Given the description of an element on the screen output the (x, y) to click on. 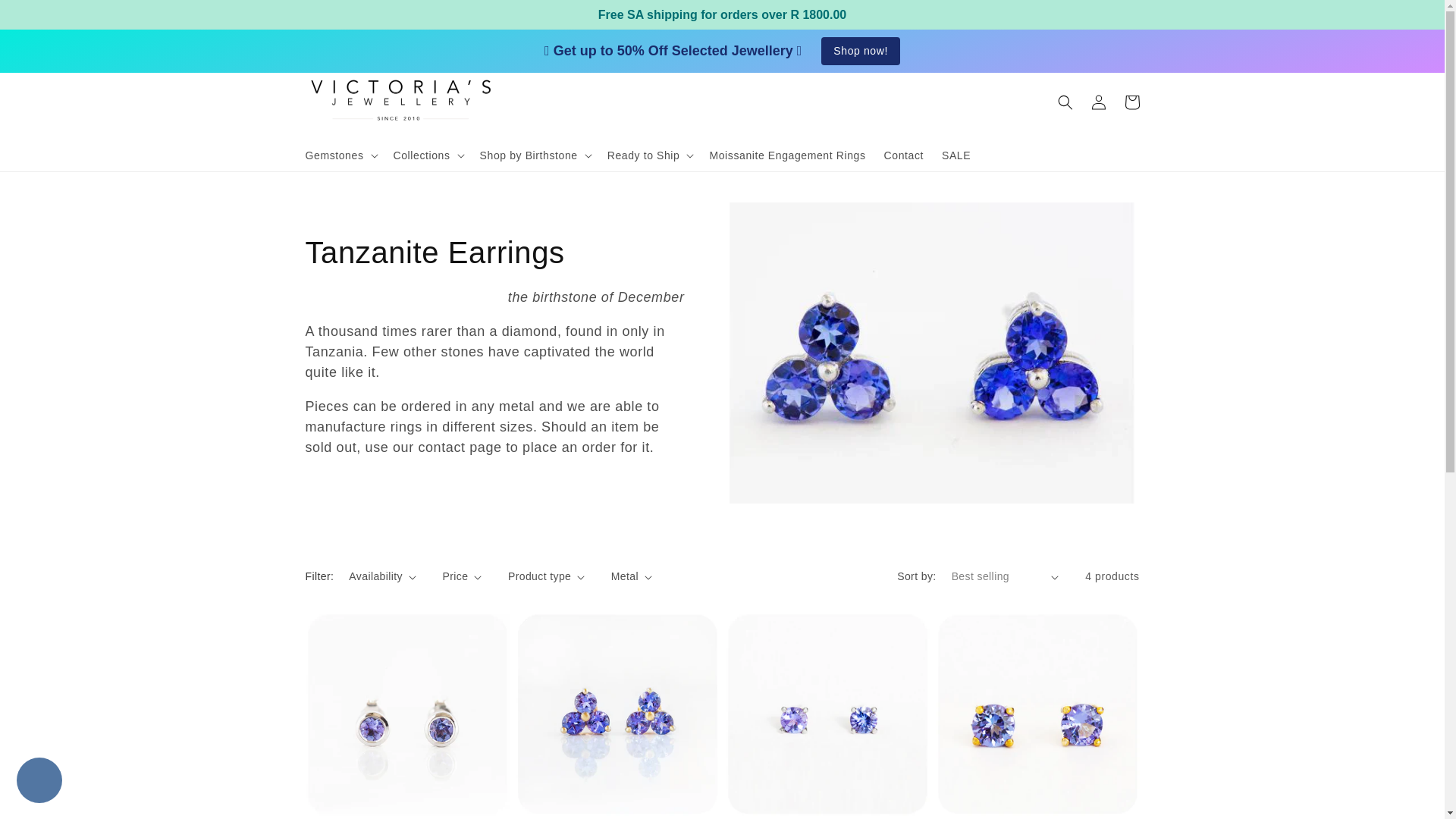
Shop now! (860, 50)
Skip to content (45, 17)
Shopify online store chat (38, 781)
